Given the description of an element on the screen output the (x, y) to click on. 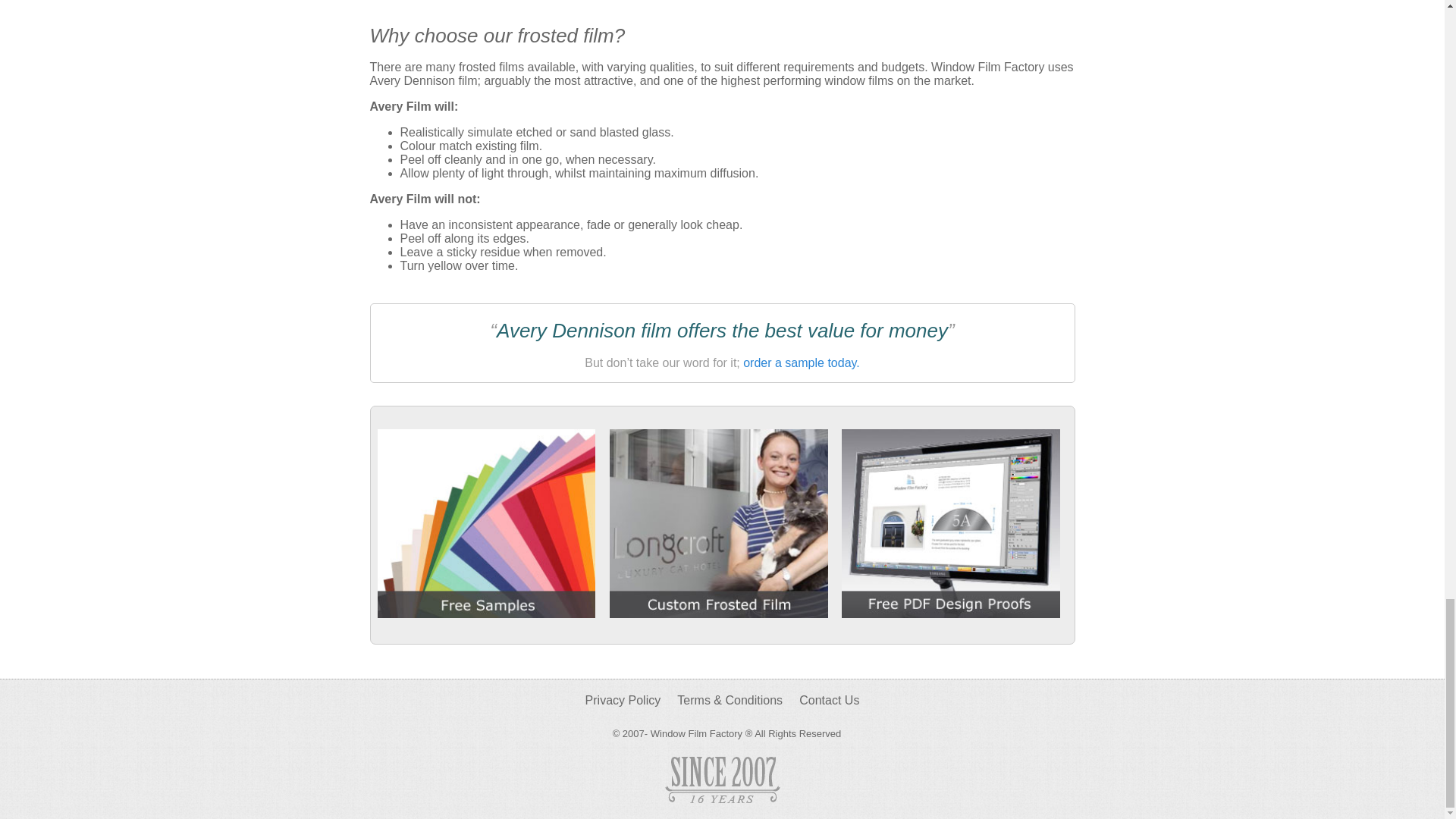
order a sample today. (801, 362)
Privacy Policy (623, 699)
Contact Us (829, 699)
